Given the description of an element on the screen output the (x, y) to click on. 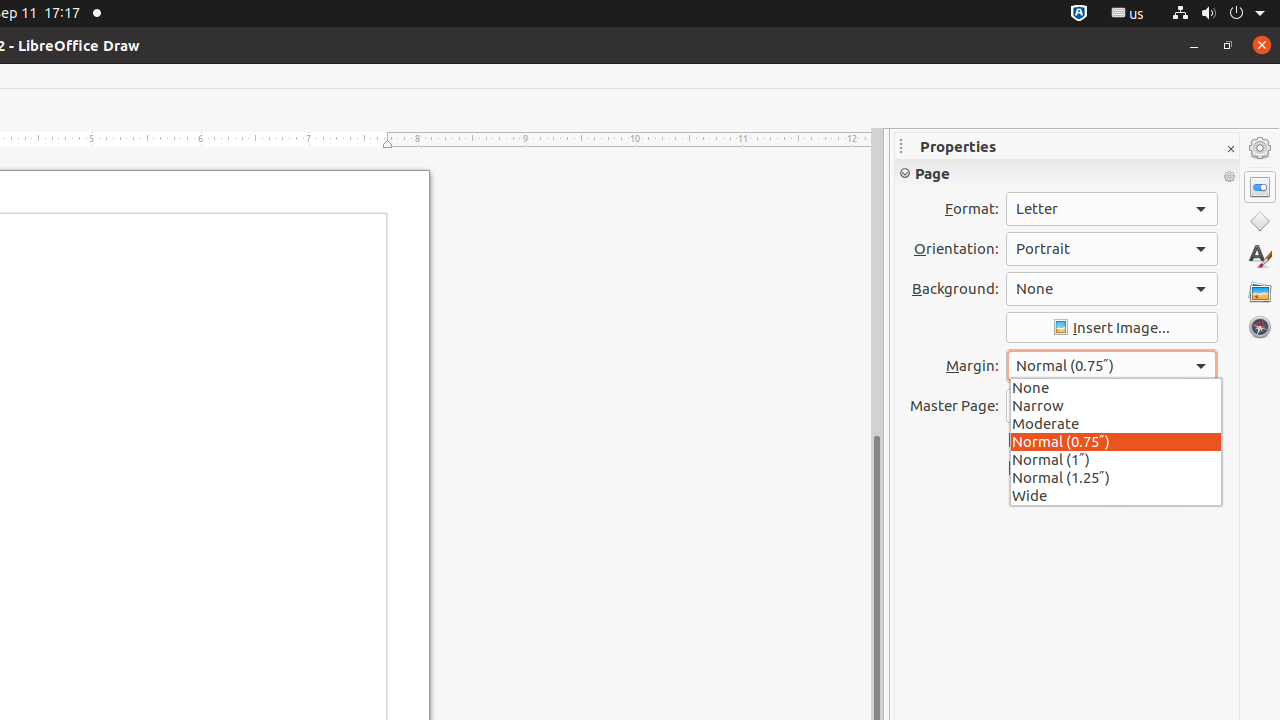
Gallery Element type: radio-button (1260, 292)
Moderate Element type: list-item (1116, 422)
:1.72/StatusNotifierItem Element type: menu (1079, 13)
System Element type: menu (1218, 13)
Format: Element type: combo-box (1112, 209)
